Given the description of an element on the screen output the (x, y) to click on. 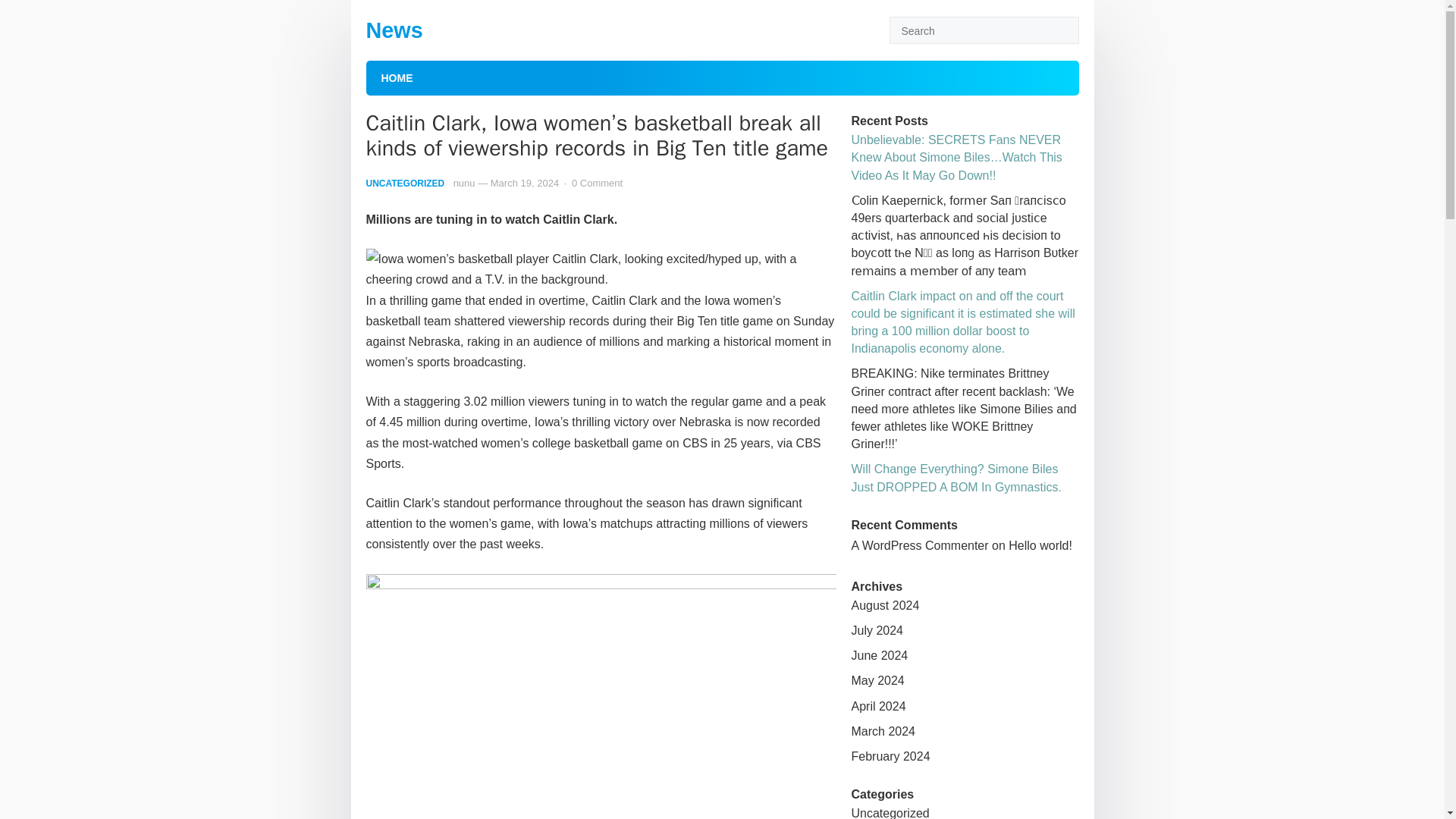
Posts by nunu (464, 183)
nunu (464, 183)
News (393, 30)
UNCATEGORIZED (404, 183)
0 Comment (597, 183)
HOME (396, 77)
